Given the description of an element on the screen output the (x, y) to click on. 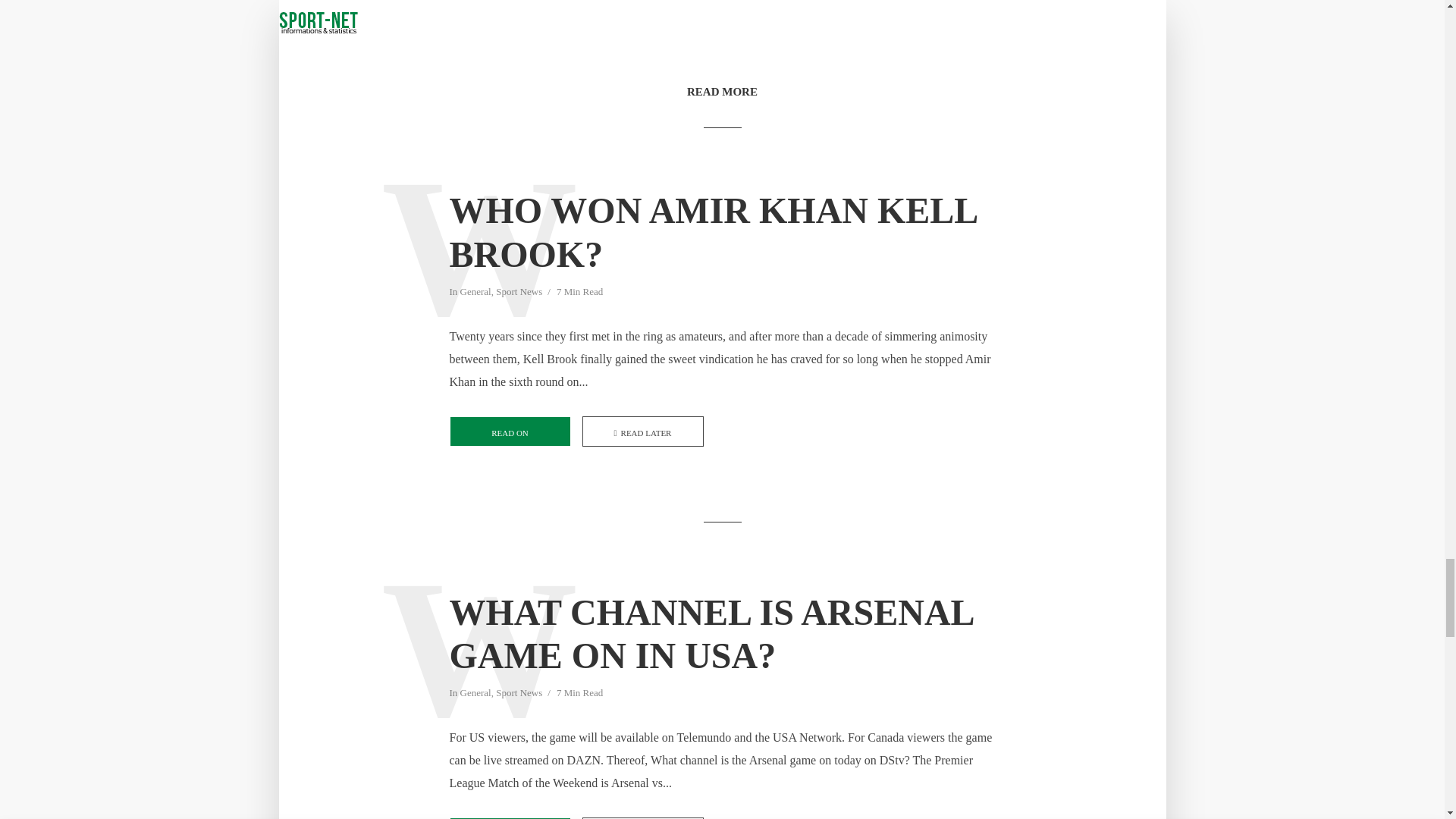
WHO WON AMIR KHAN KELL BROOK? (721, 232)
WHAT CHANNEL IS ARSENAL GAME ON IN USA? (721, 634)
READ LATER (642, 431)
General (476, 292)
Sport News (518, 292)
General (476, 694)
READ ON (509, 431)
